Given the description of an element on the screen output the (x, y) to click on. 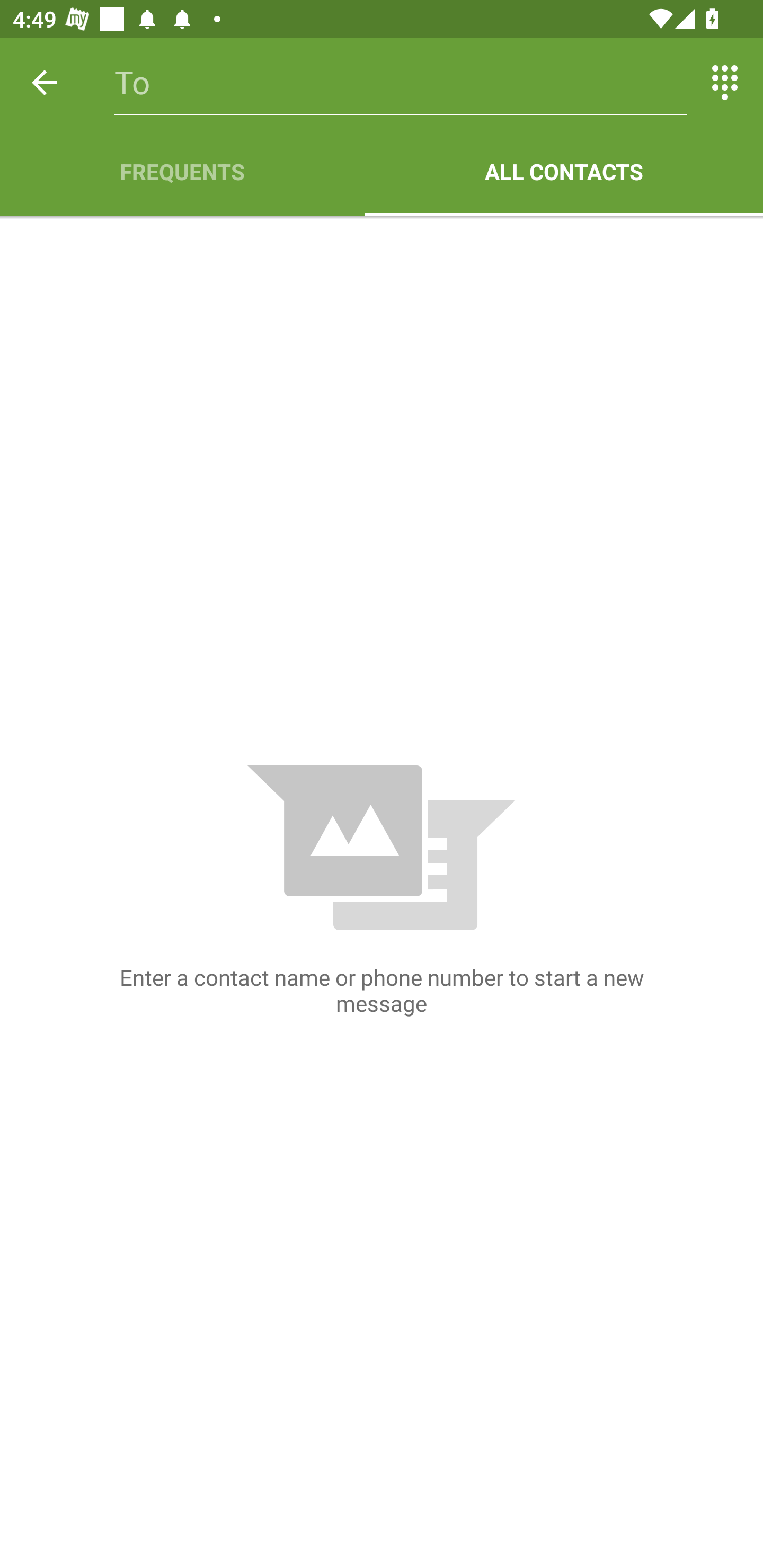
Back (44, 82)
Switch between entering text and numbers (724, 81)
To (400, 82)
FREQUENTS (182, 171)
ALL CONTACTS (563, 171)
